Given the description of an element on the screen output the (x, y) to click on. 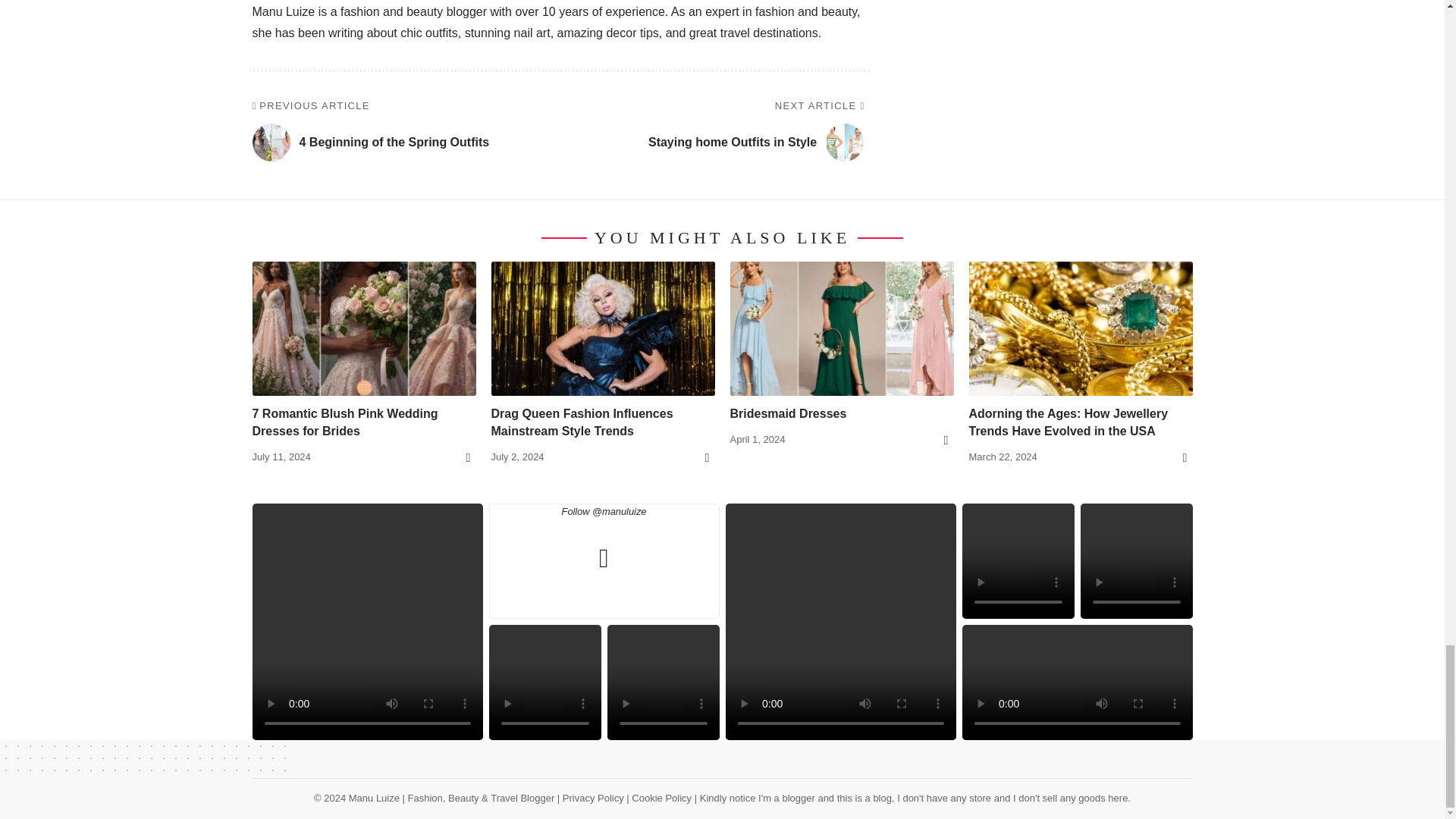
Bridesmaid Dresses (841, 328)
Drag Queen Fashion Influences Mainstream Style Trends (603, 328)
7 Romantic Blush Pink Wedding Dresses for Brides (363, 328)
